Given the description of an element on the screen output the (x, y) to click on. 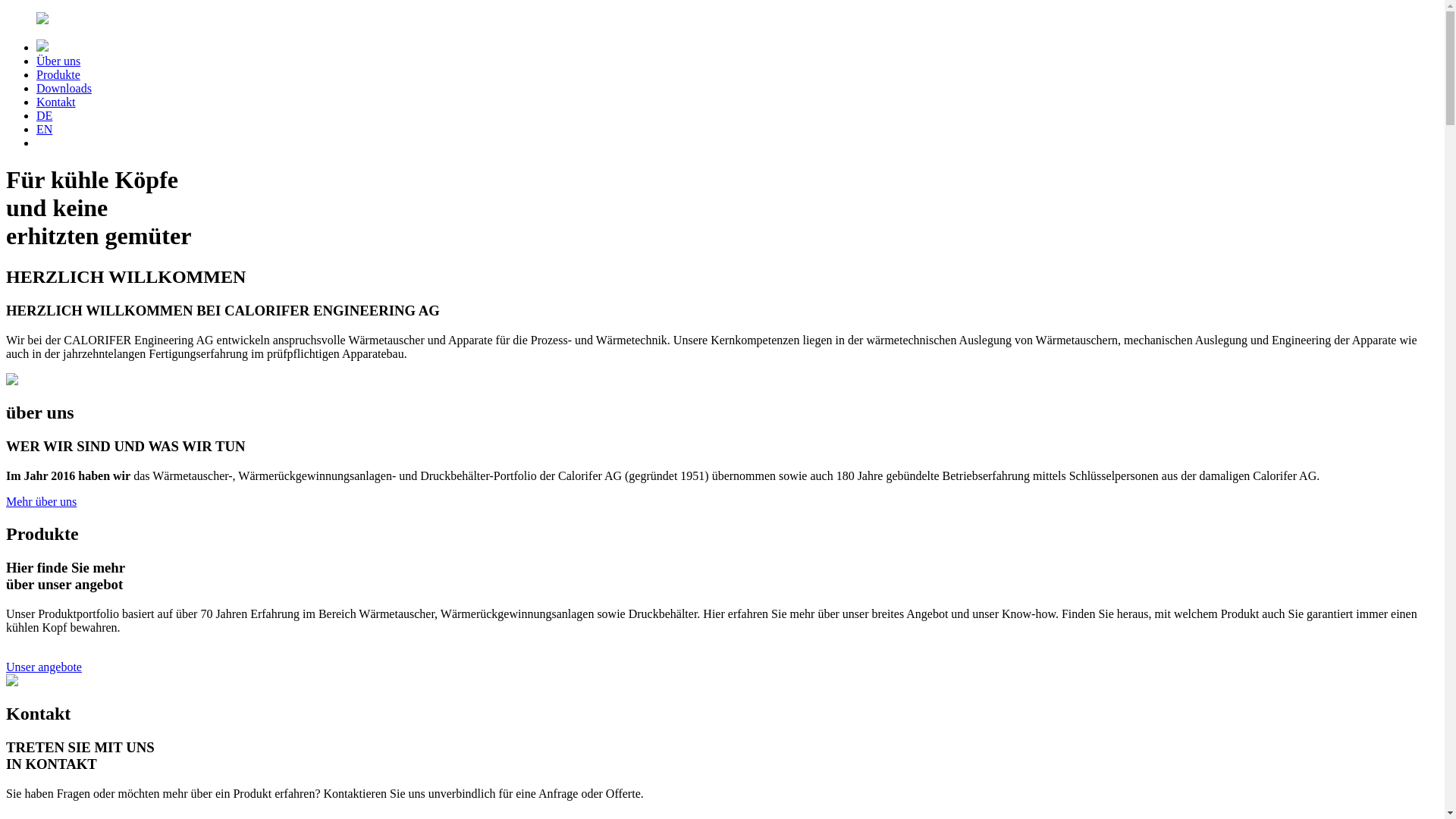
Kontakt Element type: text (55, 101)
EN Element type: text (44, 128)
Unser angebote Element type: text (43, 666)
DE Element type: text (44, 115)
Downloads Element type: text (63, 87)
Startseite Element type: hover (722, 19)
Produkte Element type: text (58, 74)
